Given the description of an element on the screen output the (x, y) to click on. 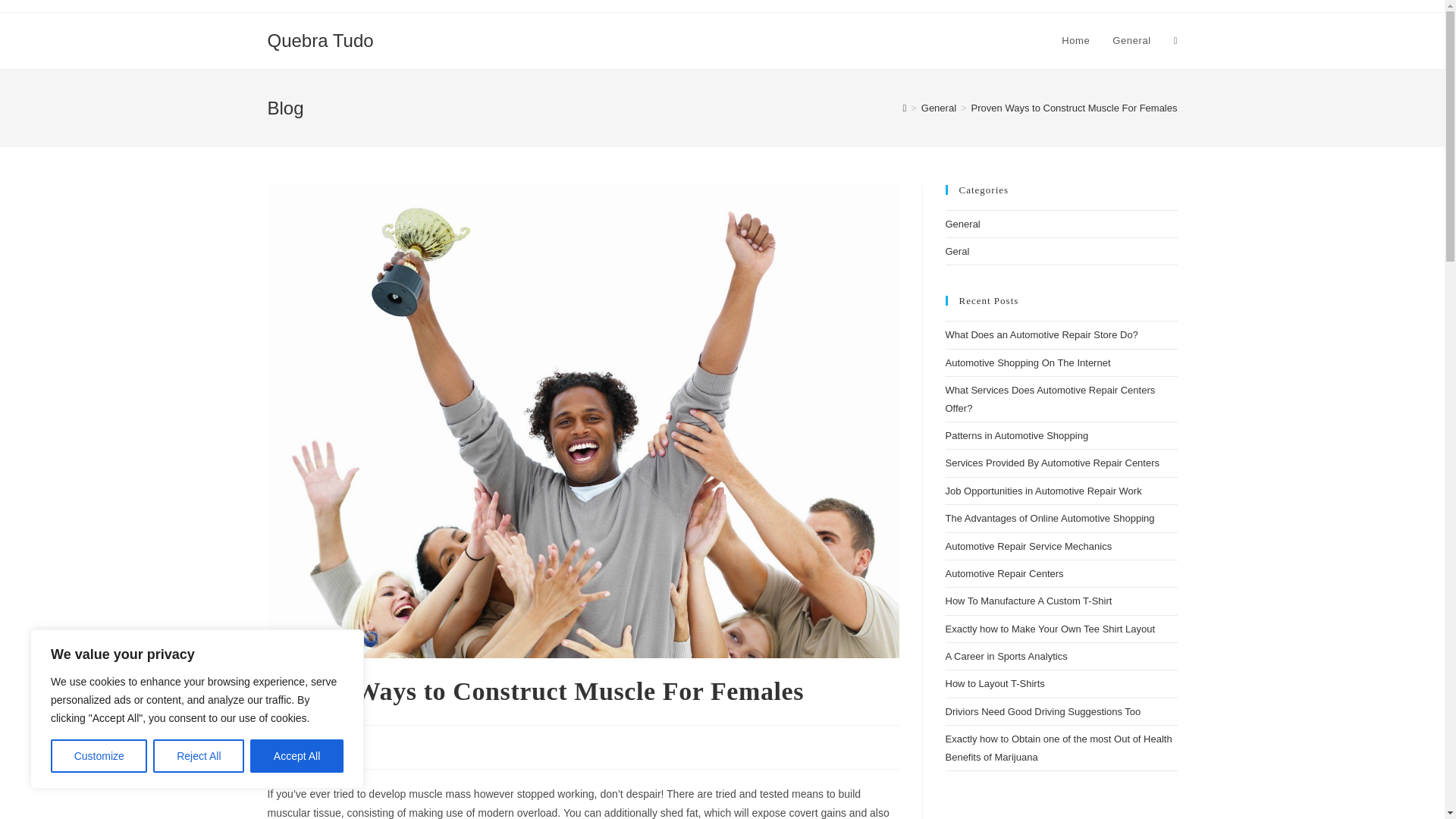
General (938, 107)
General (298, 744)
Accept All (296, 756)
Quebra Tudo (319, 40)
Home (1074, 40)
Reject All (198, 756)
Proven Ways to Construct Muscle For Females (1074, 107)
General (1130, 40)
Customize (98, 756)
